Given the description of an element on the screen output the (x, y) to click on. 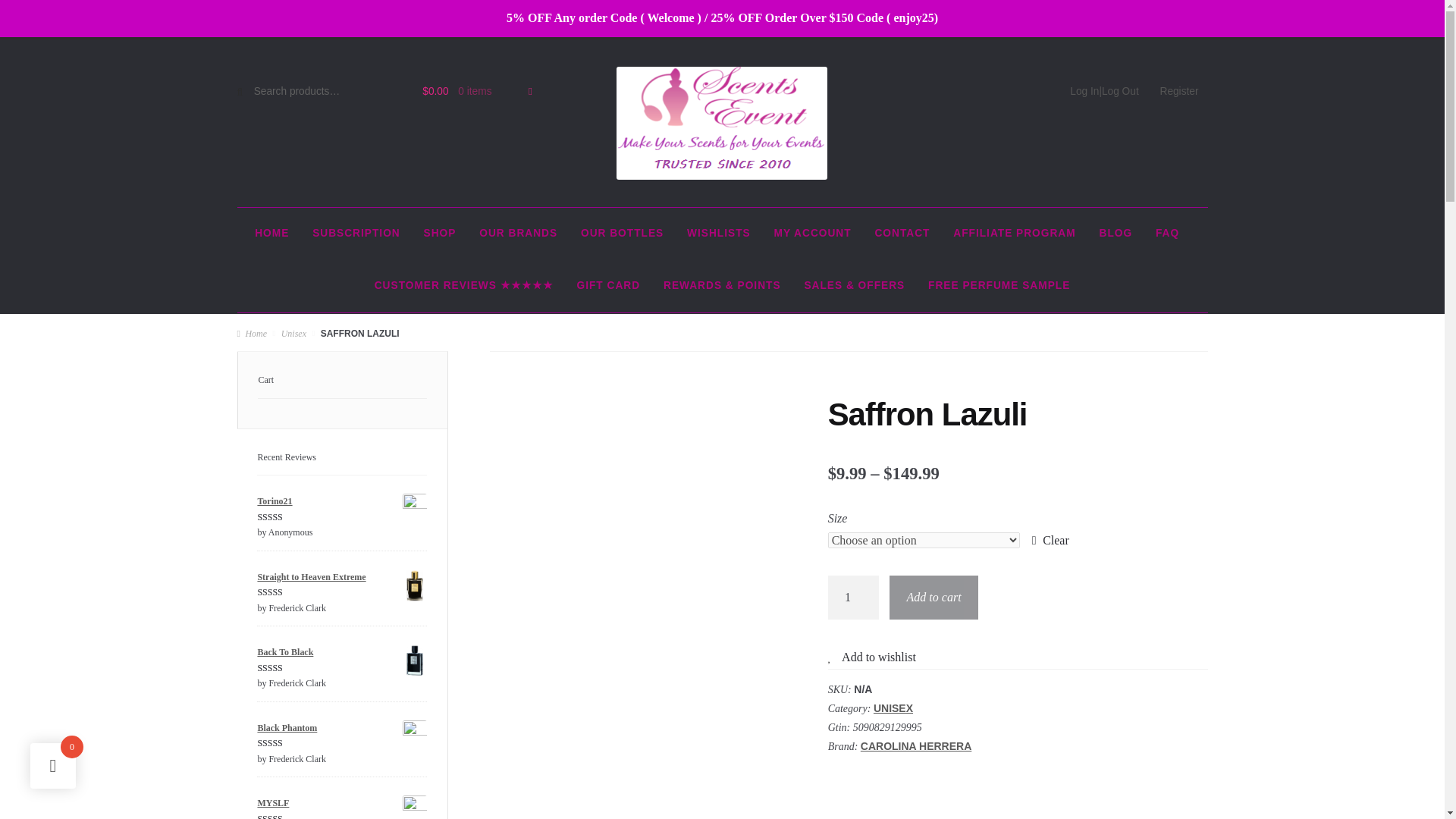
Search (266, 96)
GIFT CARD (608, 286)
SUBSCRIPTION (355, 233)
View your shopping cart (469, 91)
Register (1179, 91)
HOME (271, 233)
OUR BOTTLES (622, 233)
CONTACT (902, 233)
OUR BRANDS (517, 233)
